Given the description of an element on the screen output the (x, y) to click on. 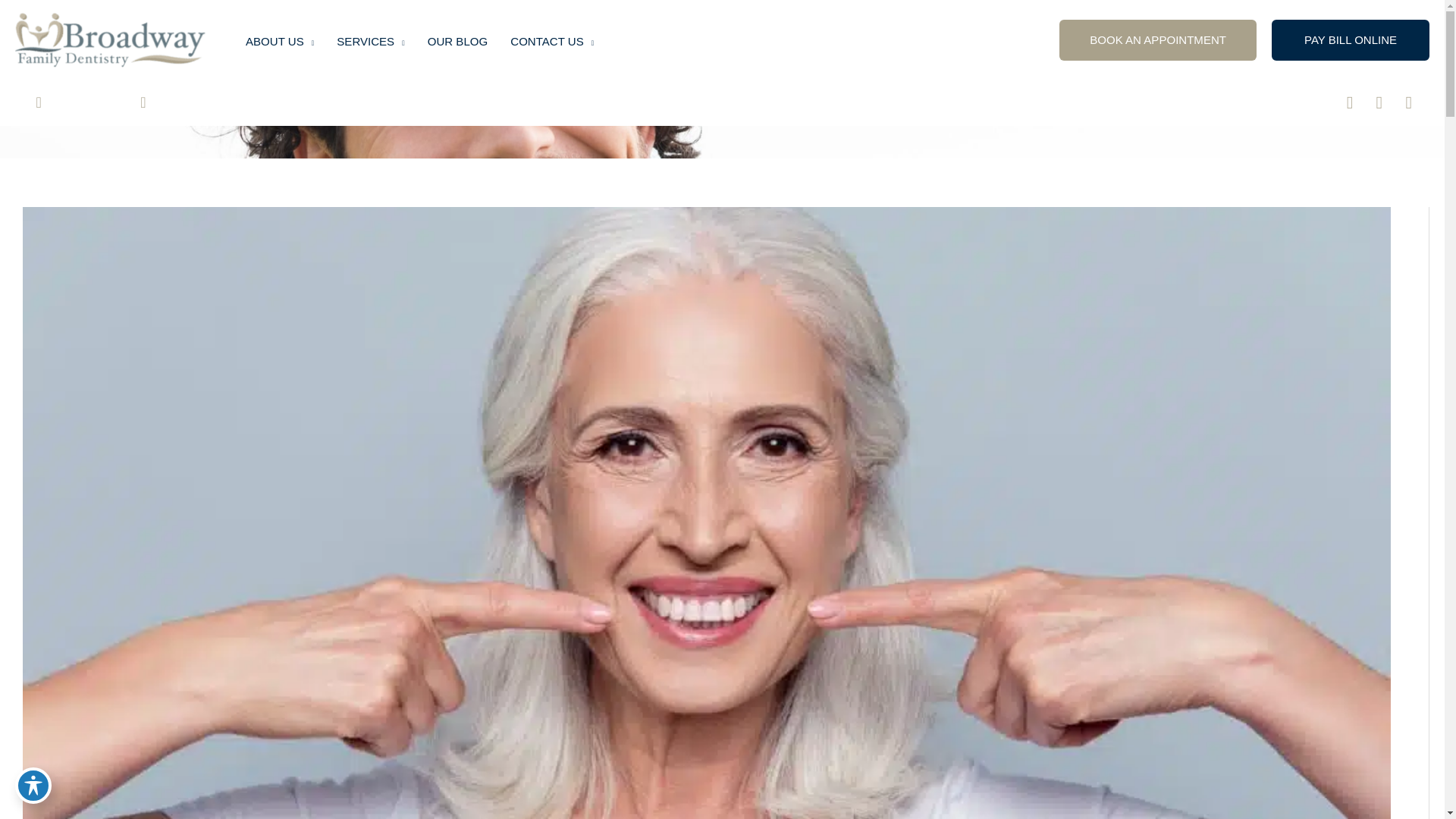
BOOK AN APPOINTMENT (1157, 39)
Minot, ND (67, 103)
PAY BILL ONLINE (1350, 39)
OUR BLOG (457, 41)
CONTACT US (552, 41)
701-839-1299 (189, 103)
ABOUT US (279, 41)
SERVICES (369, 41)
